Given the description of an element on the screen output the (x, y) to click on. 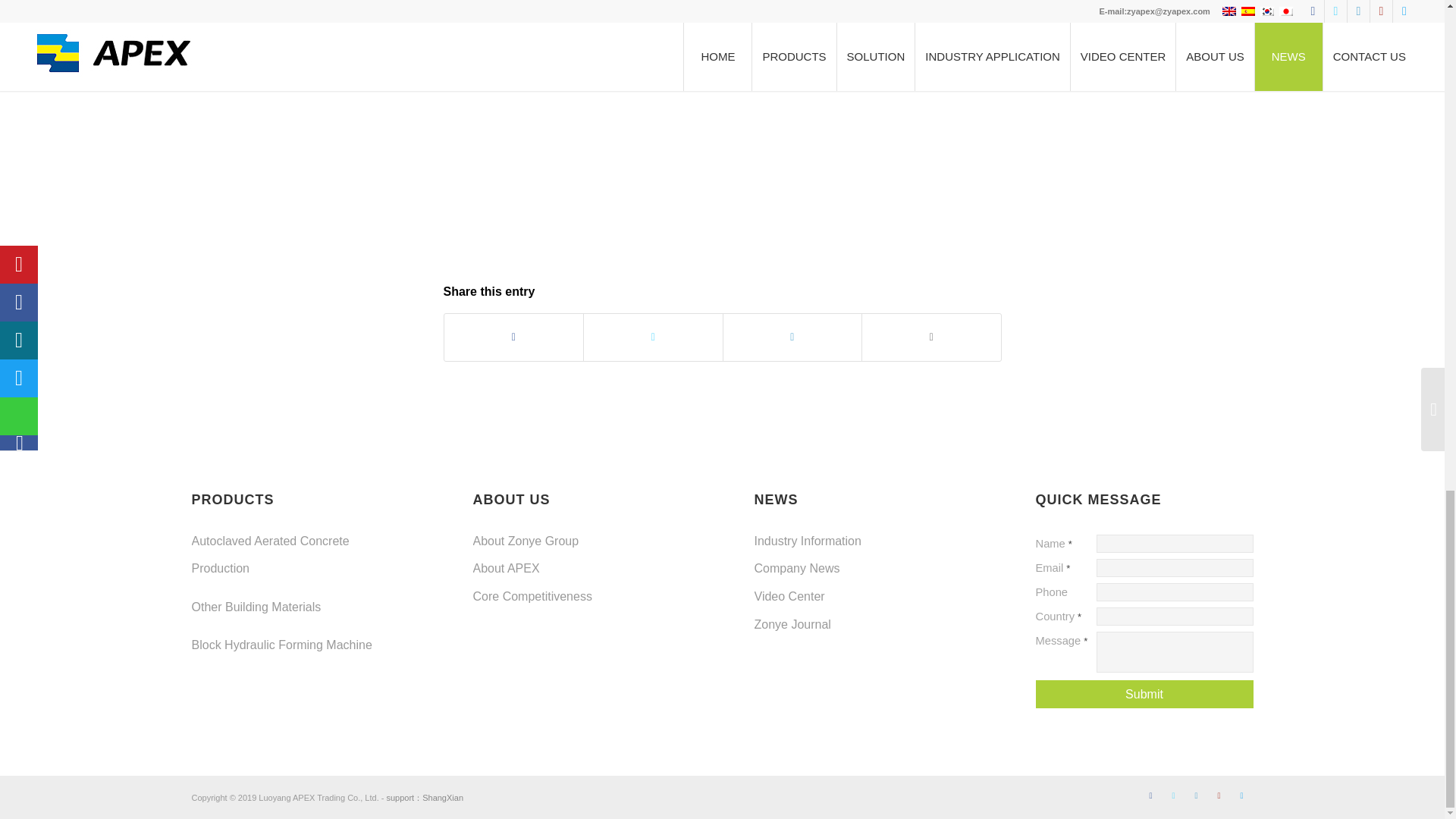
Submit (1144, 694)
